Given the description of an element on the screen output the (x, y) to click on. 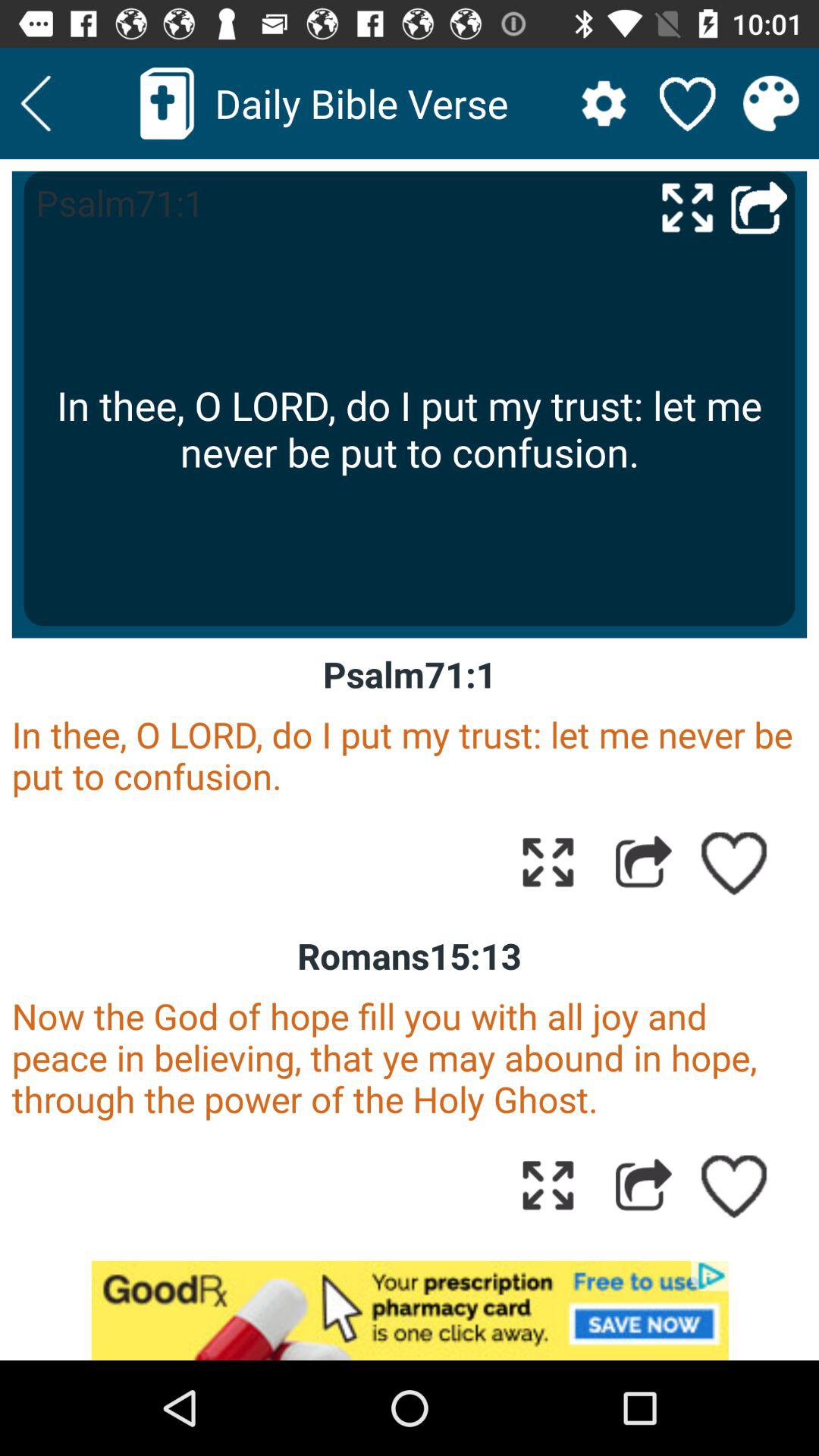
like page (735, 861)
